Given the description of an element on the screen output the (x, y) to click on. 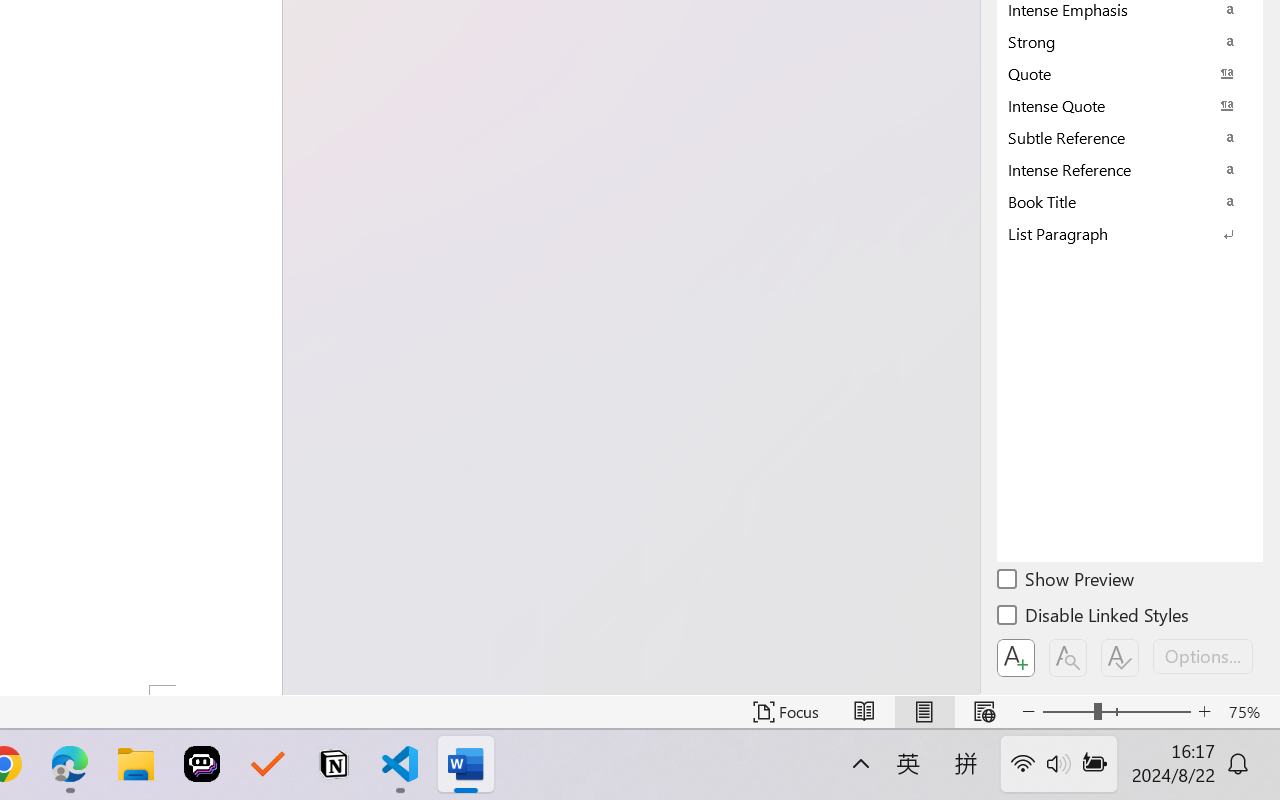
Intense Quote (1130, 105)
Disable Linked Styles (1094, 618)
Book Title (1130, 201)
Poe (201, 764)
List Paragraph (1130, 233)
Quote (1130, 73)
